Given the description of an element on the screen output the (x, y) to click on. 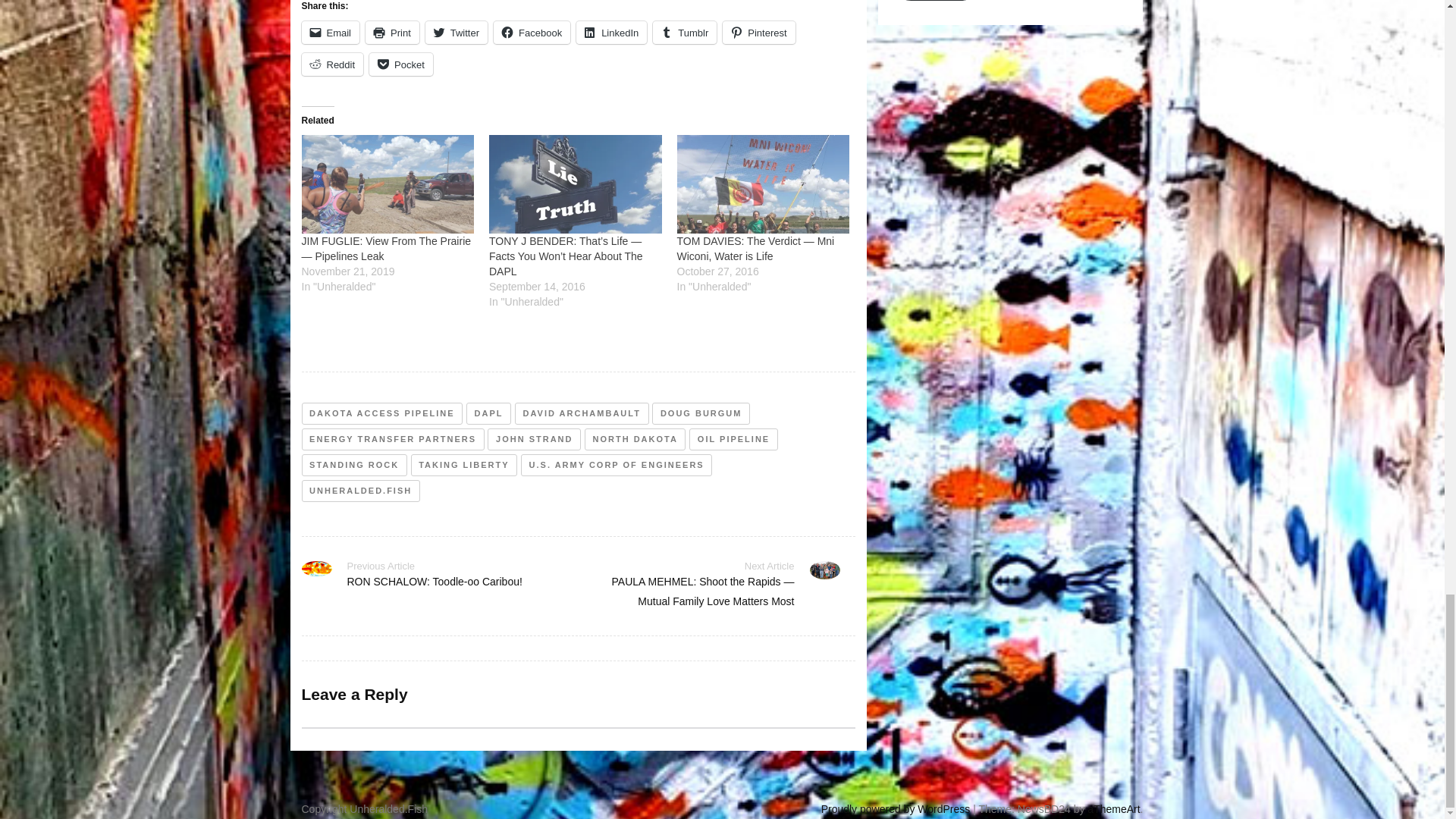
DAKOTA ACCESS PIPELINE (382, 413)
Click to share on Facebook (531, 32)
Click to share on Pinterest (758, 32)
OIL PIPELINE (732, 439)
Pinterest (758, 32)
STANDING ROCK (354, 464)
Twitter (456, 32)
DAPL (488, 413)
Click to share on Tumblr (684, 32)
DOUG BURGUM (700, 413)
Click to share on LinkedIn (611, 32)
JOHN STRAND (533, 439)
U.S. ARMY CORP OF ENGINEERS (616, 464)
LinkedIn (611, 32)
Print (392, 32)
